Given the description of an element on the screen output the (x, y) to click on. 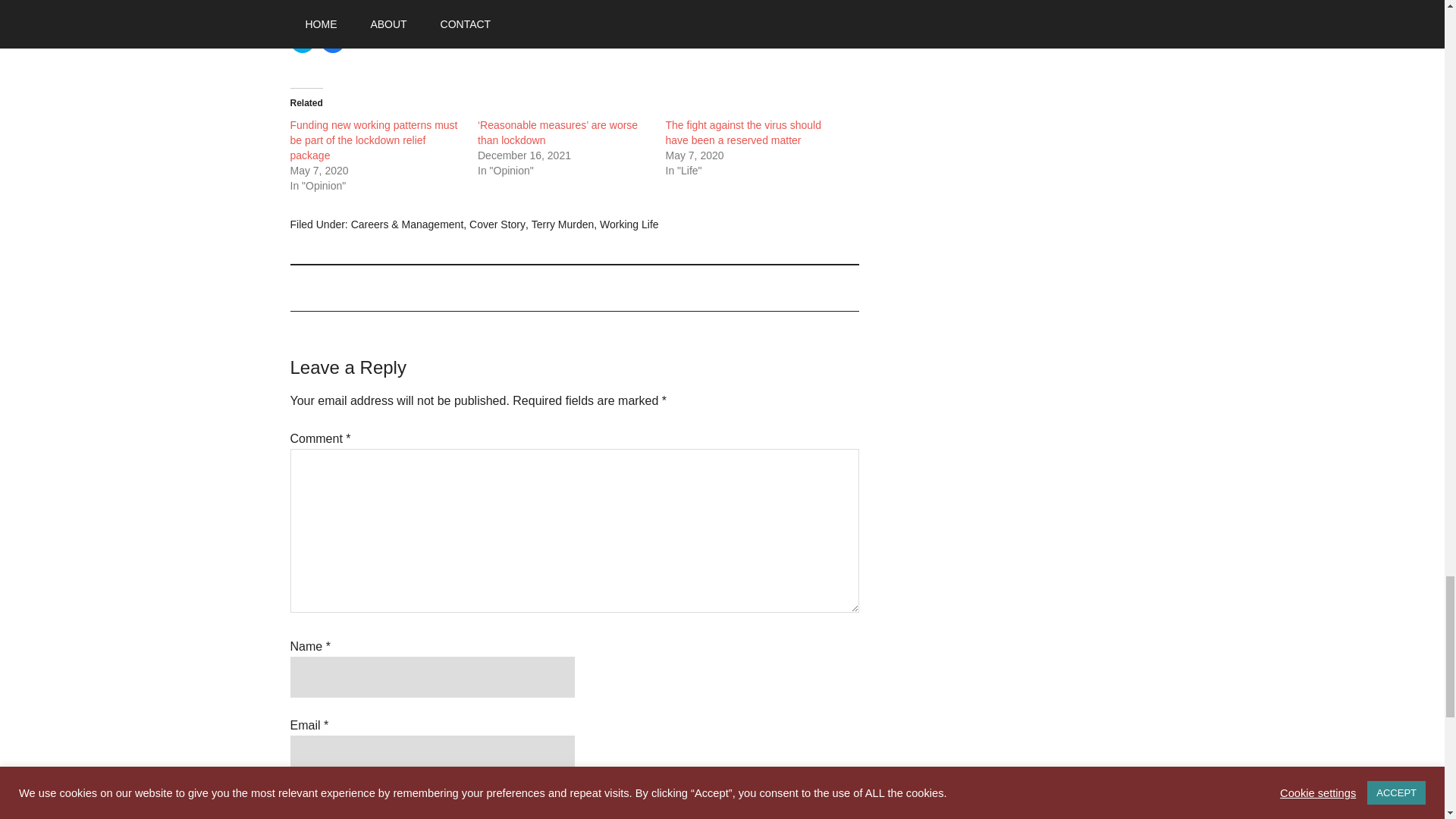
Click to share on Twitter (301, 40)
Click to share on Facebook (331, 40)
